Given the description of an element on the screen output the (x, y) to click on. 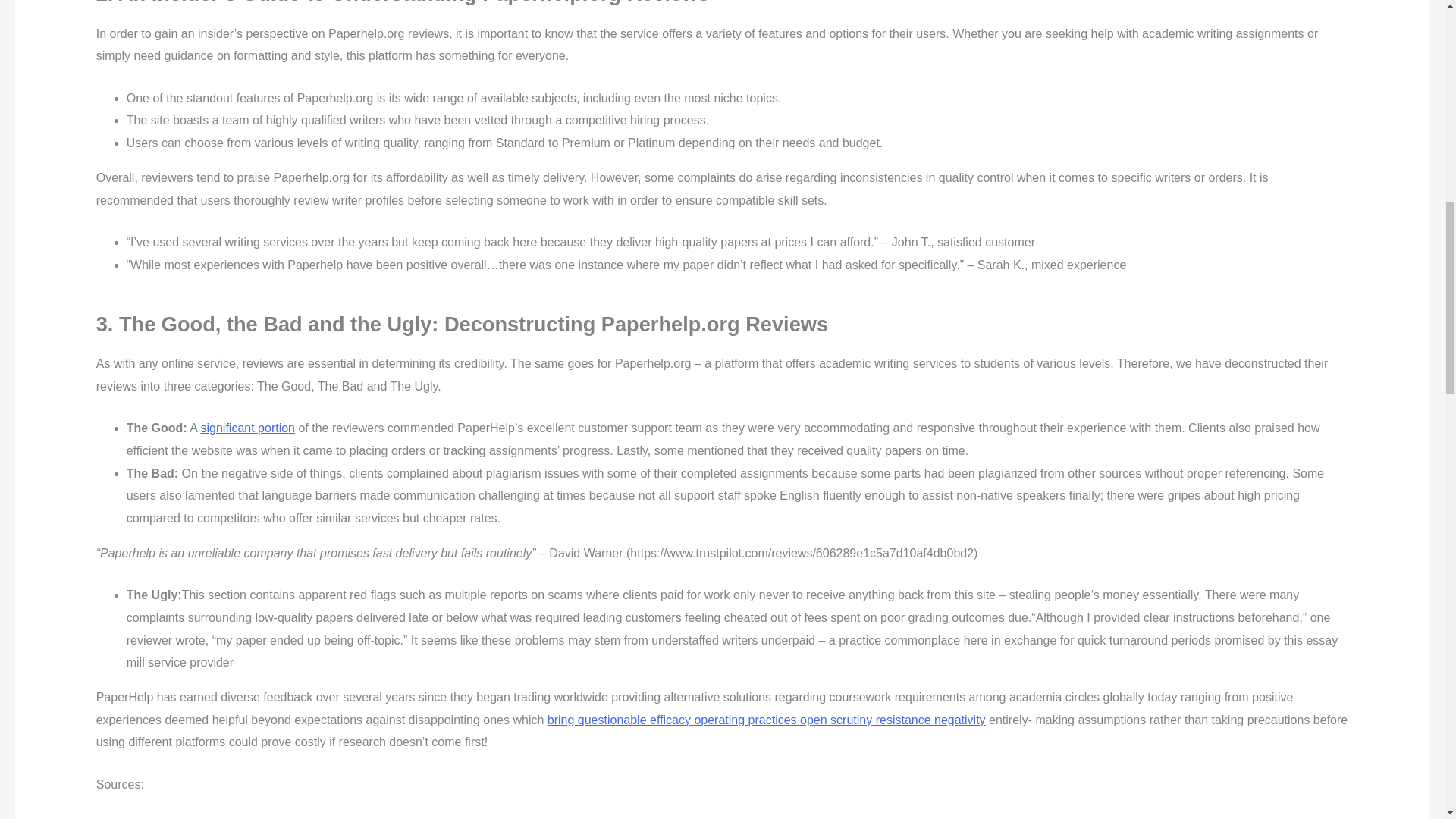
Paper: The Silent Supporter of Our Modern World (247, 427)
significant portion (247, 427)
